Given the description of an element on the screen output the (x, y) to click on. 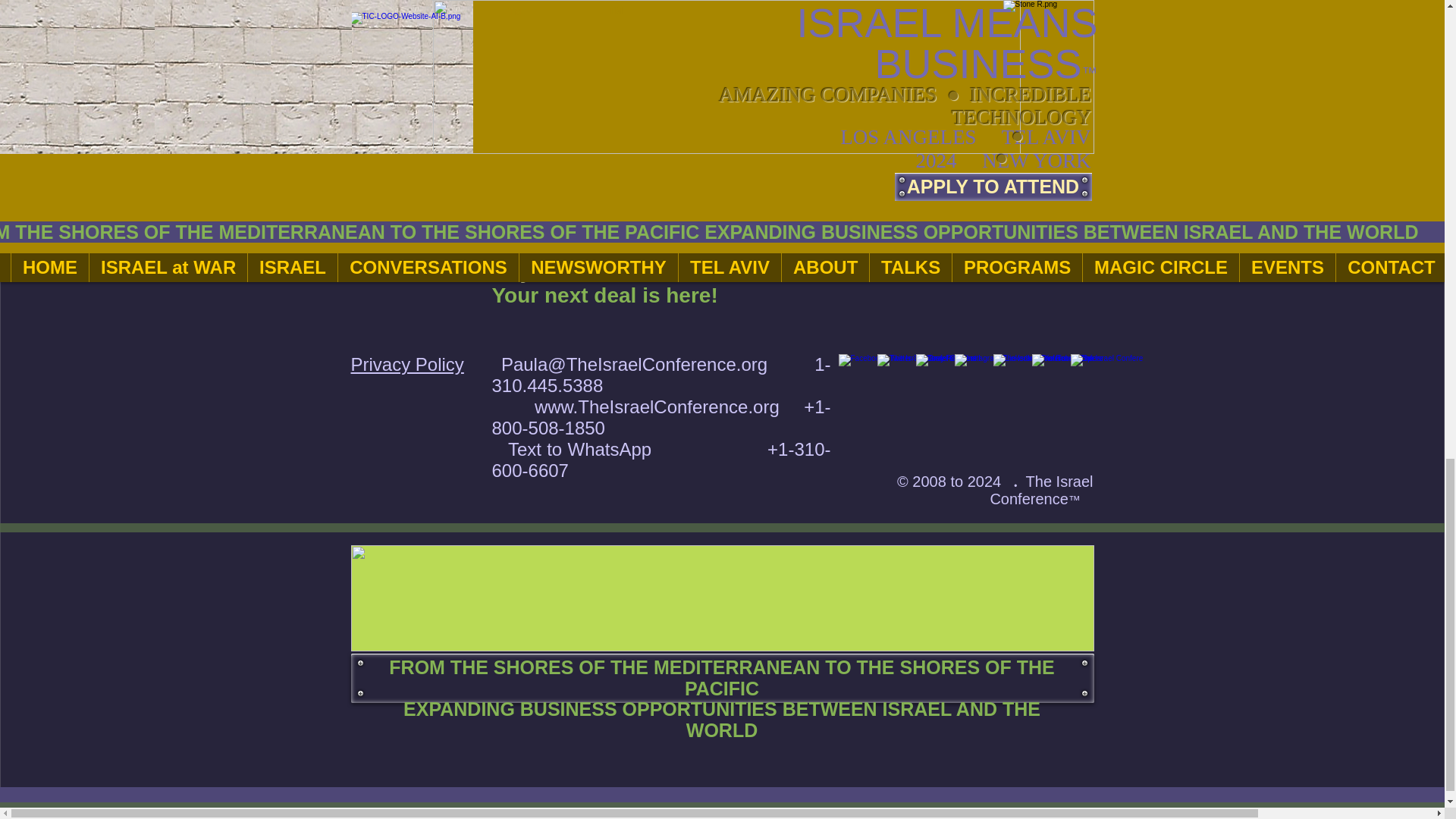
www.TheIsraelConference.org (656, 406)
Send (974, 73)
Privacy Policy (406, 363)
